Given the description of an element on the screen output the (x, y) to click on. 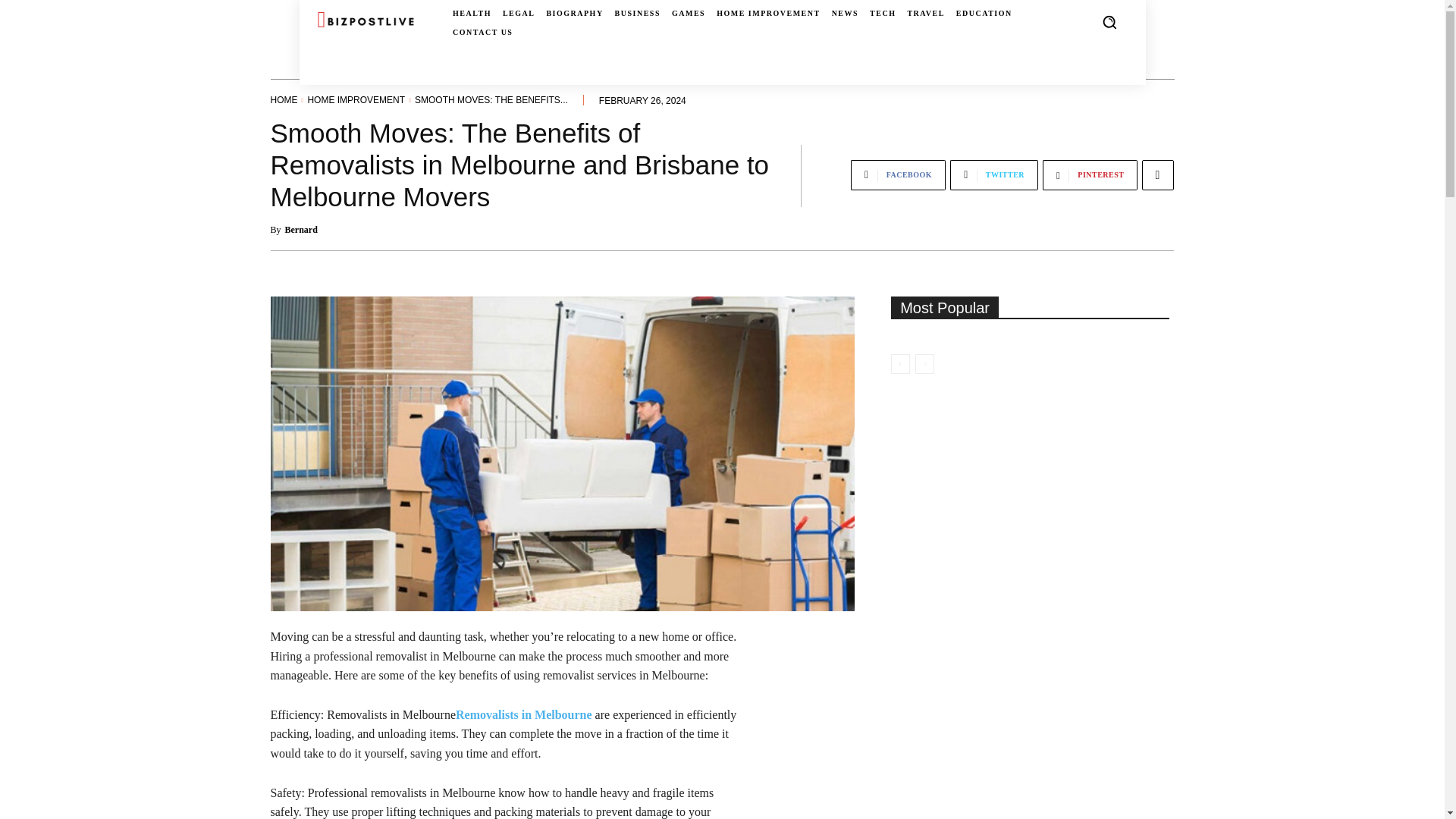
FACEBOOK (897, 174)
GAMES (687, 13)
HOME IMPROVEMENT (768, 13)
EDUCATION (983, 13)
View all posts in Home Improvement (355, 100)
Twitter (994, 174)
LEGAL (518, 13)
HOME IMPROVEMENT (355, 100)
PINTEREST (1089, 174)
